Given the description of an element on the screen output the (x, y) to click on. 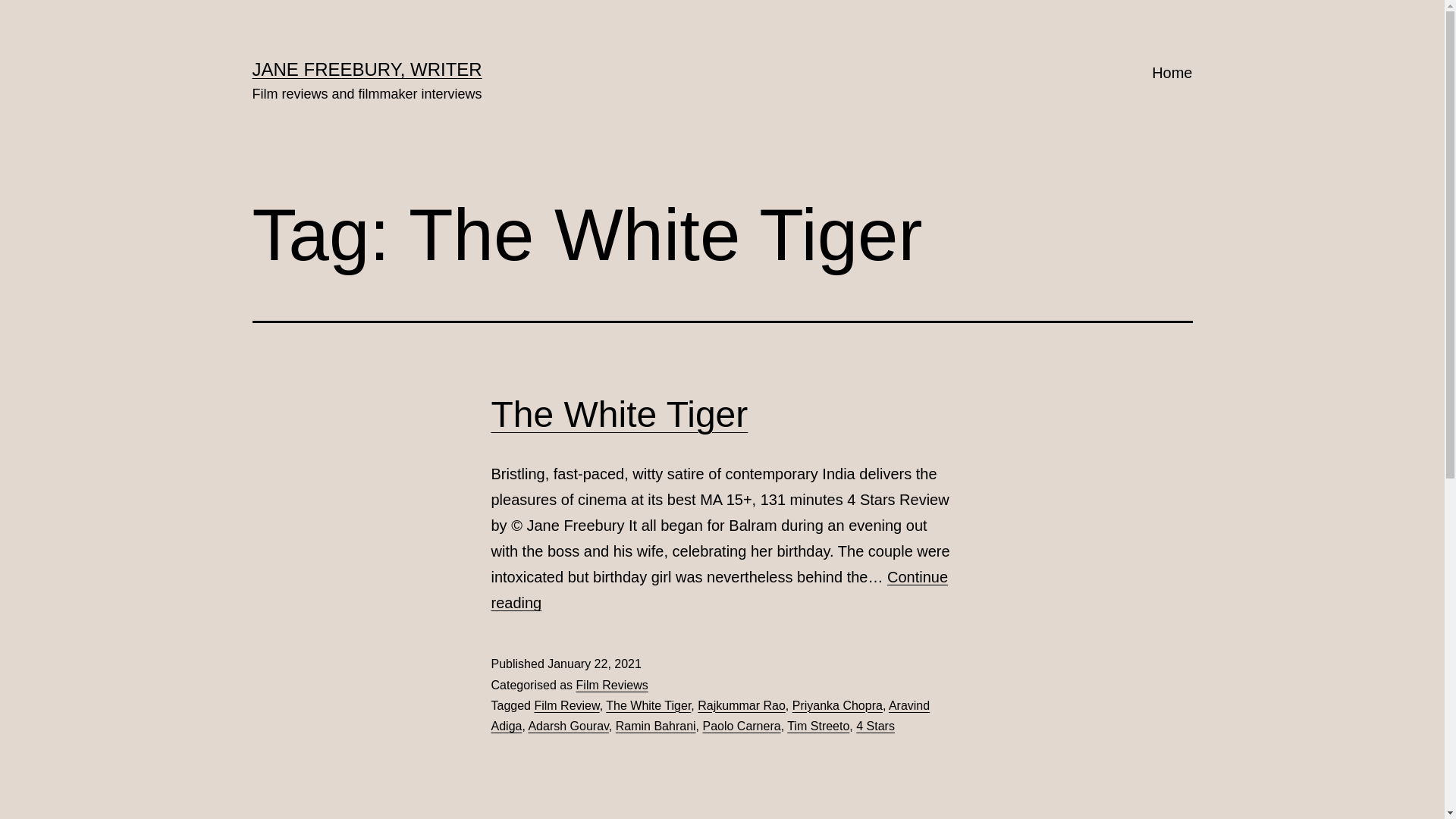
4 Stars Element type: text (875, 725)
Tim Streeto Element type: text (818, 725)
The White Tiger Element type: text (647, 705)
Ramin Bahrani Element type: text (655, 725)
JANE FREEBURY, WRITER Element type: text (366, 69)
Aravind Adiga Element type: text (710, 715)
Adarsh Gourav Element type: text (567, 725)
Continue reading
The White Tiger Element type: text (719, 589)
Film Reviews Element type: text (612, 684)
Paolo Carnera Element type: text (741, 725)
Film Review Element type: text (566, 705)
The White Tiger Element type: text (619, 414)
Home Element type: text (1172, 72)
Priyanka Chopra Element type: text (837, 705)
Rajkummar Rao Element type: text (741, 705)
